Given the description of an element on the screen output the (x, y) to click on. 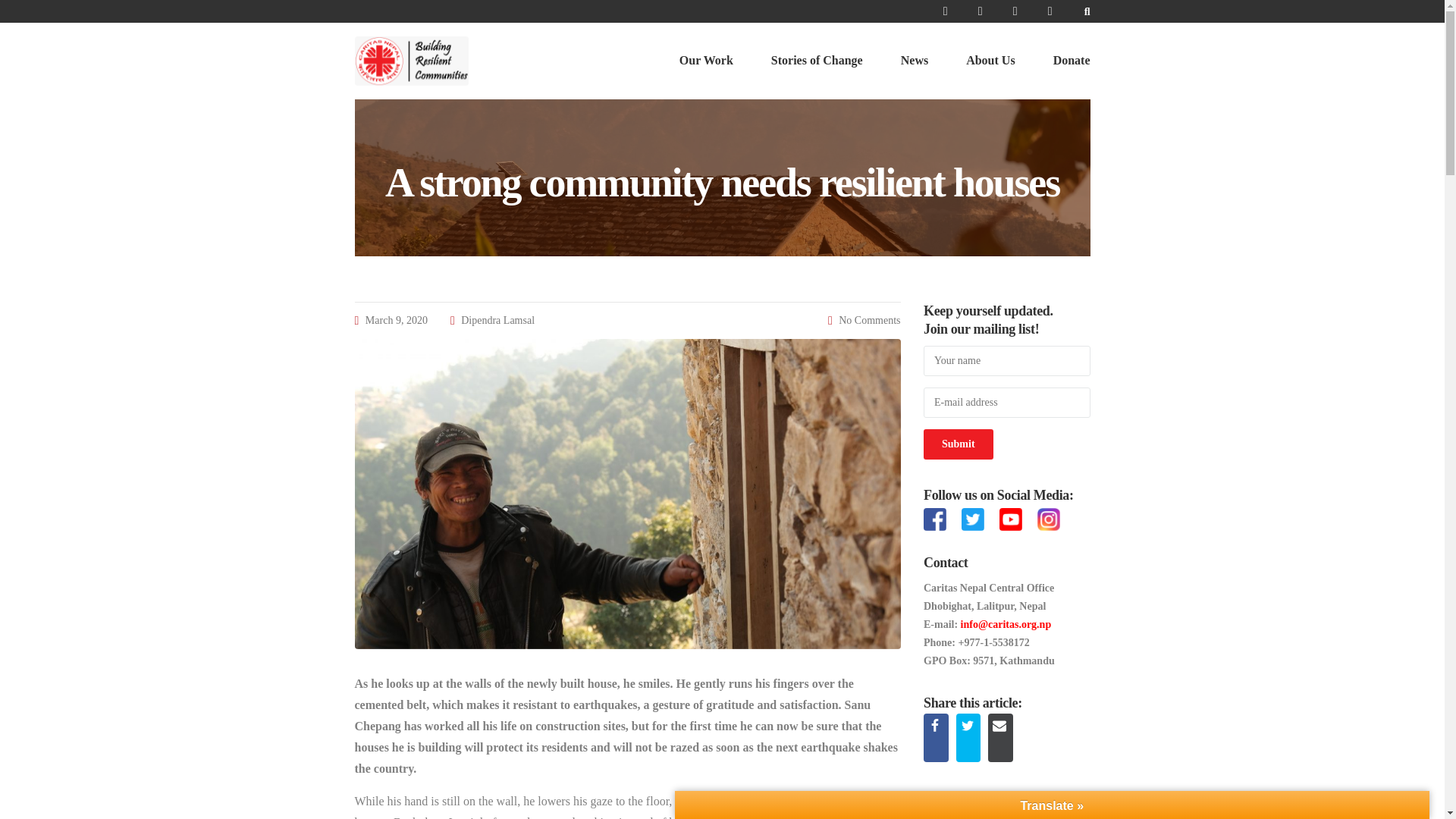
Stories of Change (817, 60)
About Us (990, 60)
Our Work (706, 60)
Submit (957, 444)
